Given the description of an element on the screen output the (x, y) to click on. 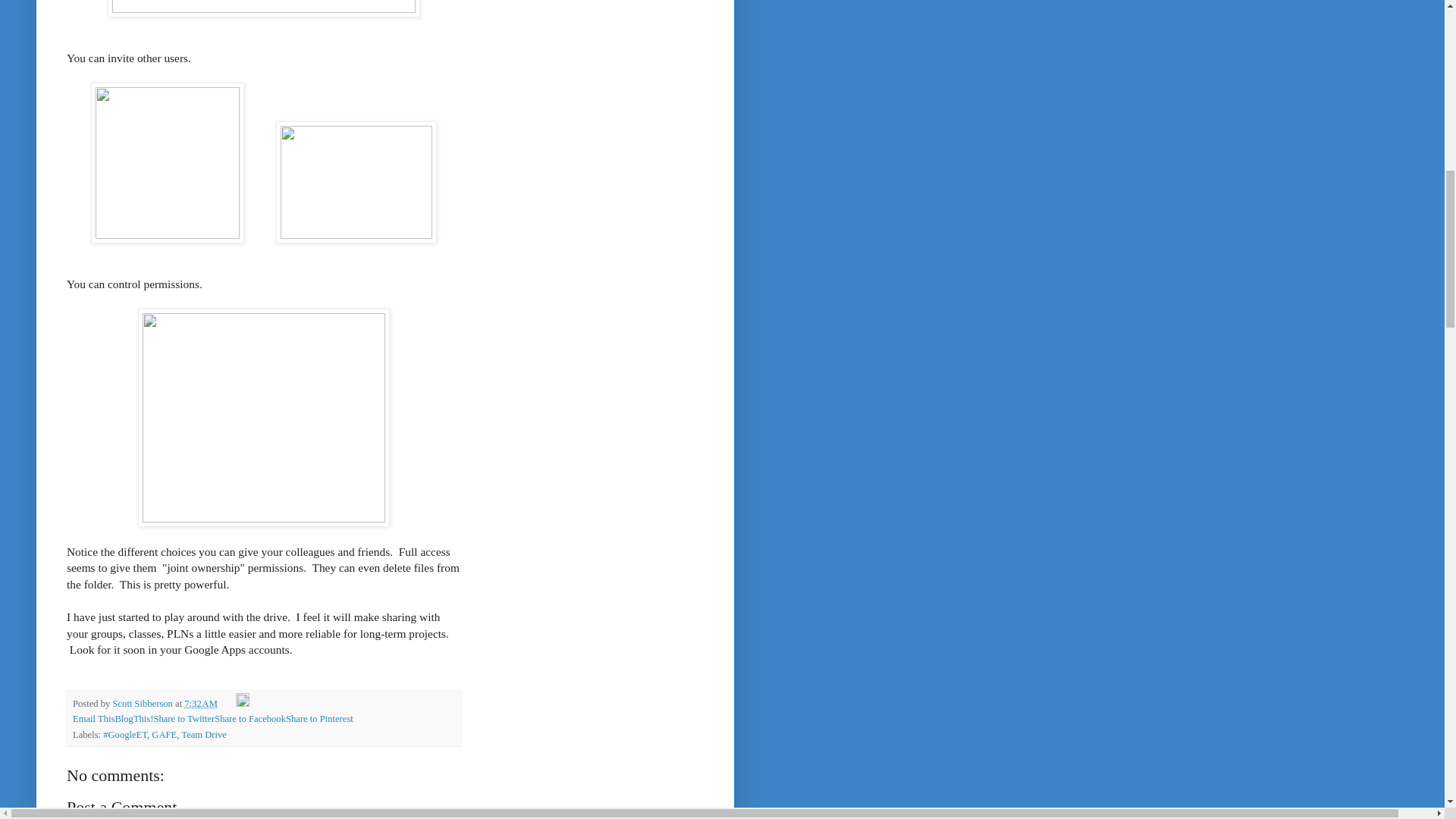
Share to Pinterest (319, 718)
Share to Facebook (249, 718)
GAFE (163, 734)
Scott Sibberson (143, 703)
Email This (93, 718)
BlogThis! (133, 718)
Edit Post (241, 703)
Share to Facebook (249, 718)
Share to Twitter (183, 718)
permanent link (200, 703)
Share to Pinterest (319, 718)
Email This (93, 718)
author profile (143, 703)
Email Post (227, 703)
